Given the description of an element on the screen output the (x, y) to click on. 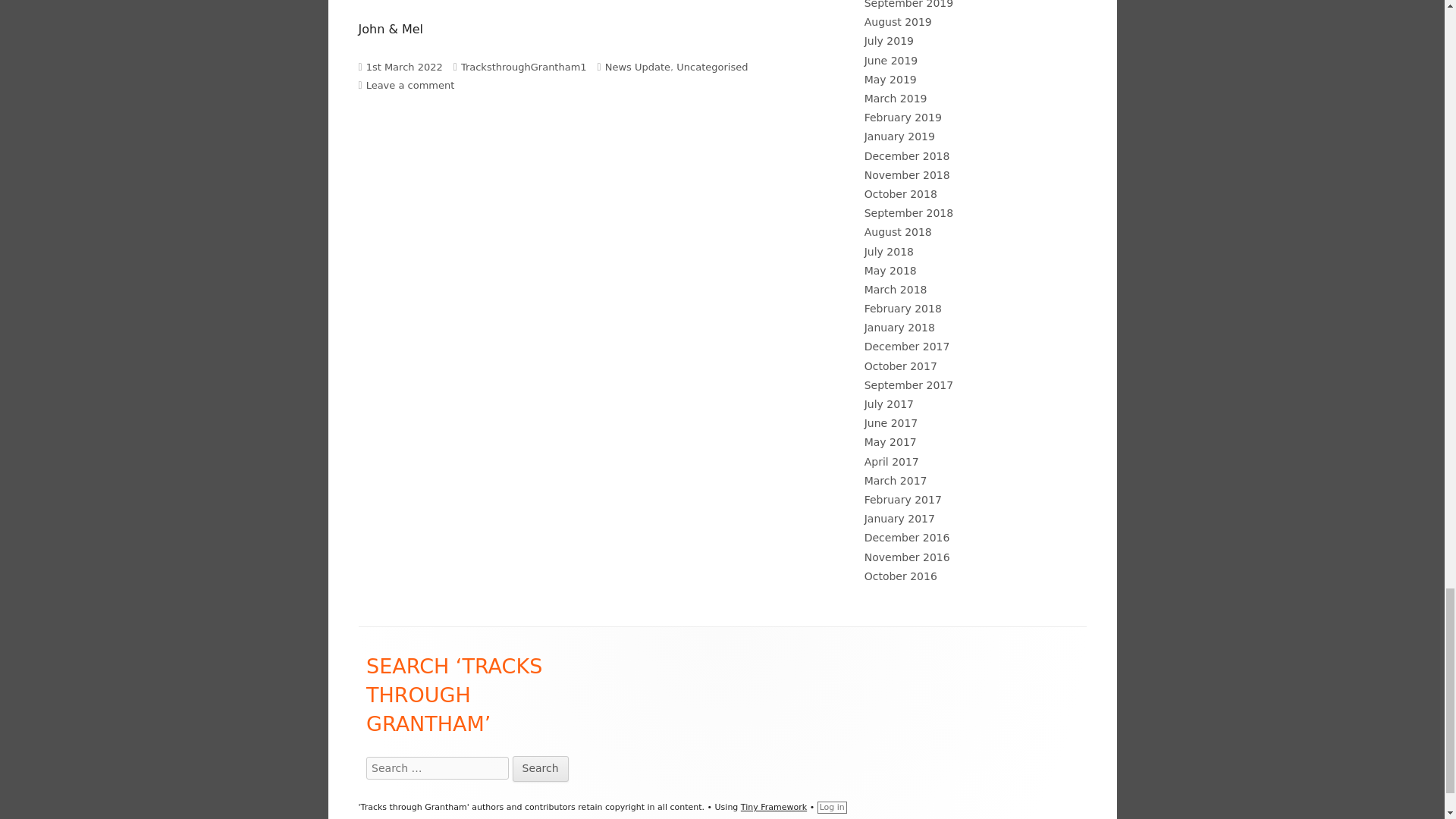
Search (540, 768)
Search (540, 768)
